Given the description of an element on the screen output the (x, y) to click on. 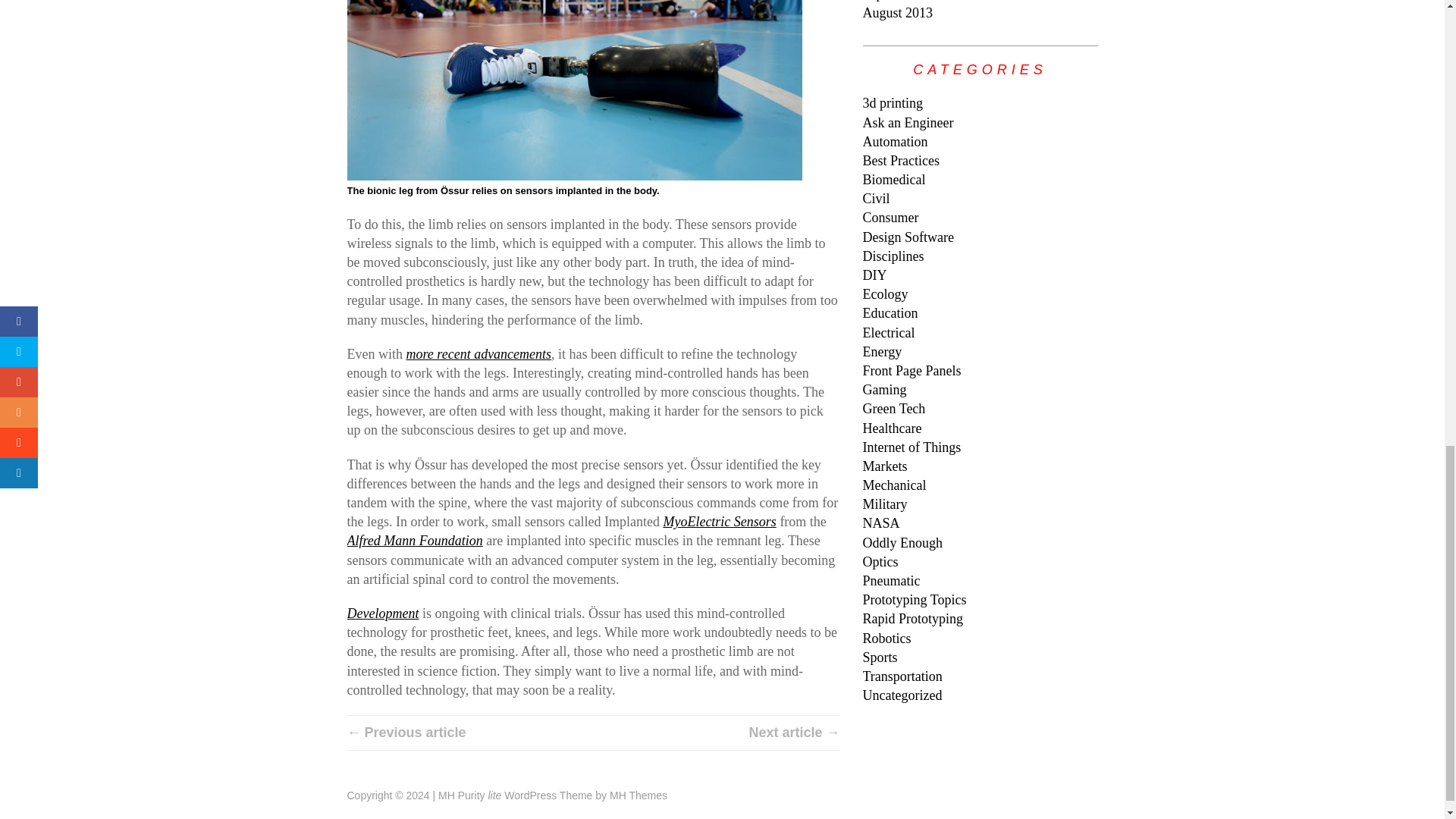
Alfred Mann Foundation (415, 540)
Development (383, 613)
MyoElectric Sensors (719, 521)
more recent advancements (478, 353)
